Given the description of an element on the screen output the (x, y) to click on. 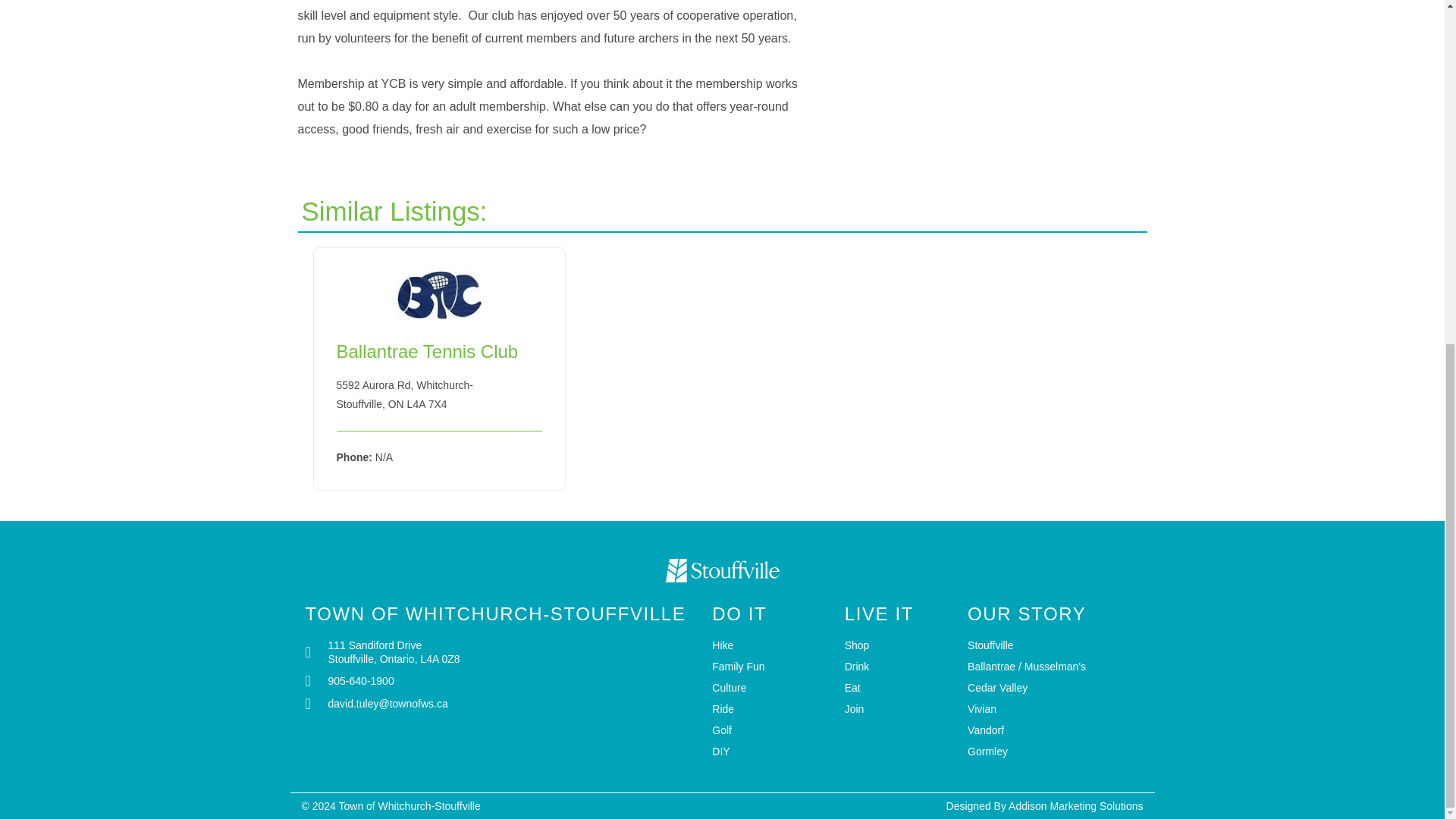
Cedar Valley (1053, 687)
Designed By Addison Marketing Solutions (1044, 806)
Drink (898, 666)
Eat (898, 687)
DIY (769, 751)
Hike (769, 644)
Golf (769, 730)
Culture (769, 687)
Family Fun (769, 666)
Ride (769, 708)
